Given the description of an element on the screen output the (x, y) to click on. 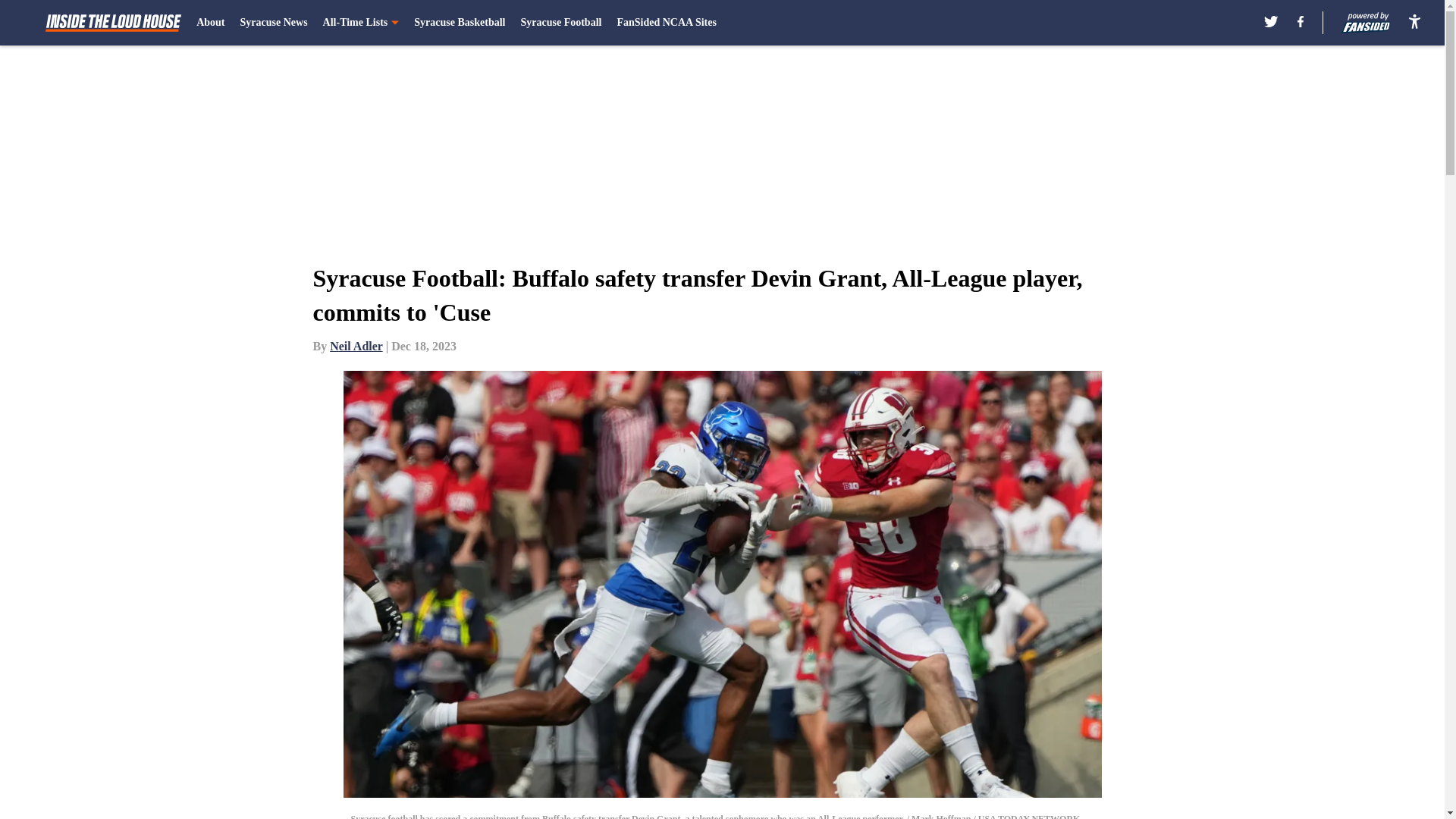
FanSided NCAA Sites (665, 22)
Neil Adler (355, 345)
Syracuse Basketball (459, 22)
Syracuse Football (560, 22)
About (210, 22)
Syracuse News (273, 22)
